Given the description of an element on the screen output the (x, y) to click on. 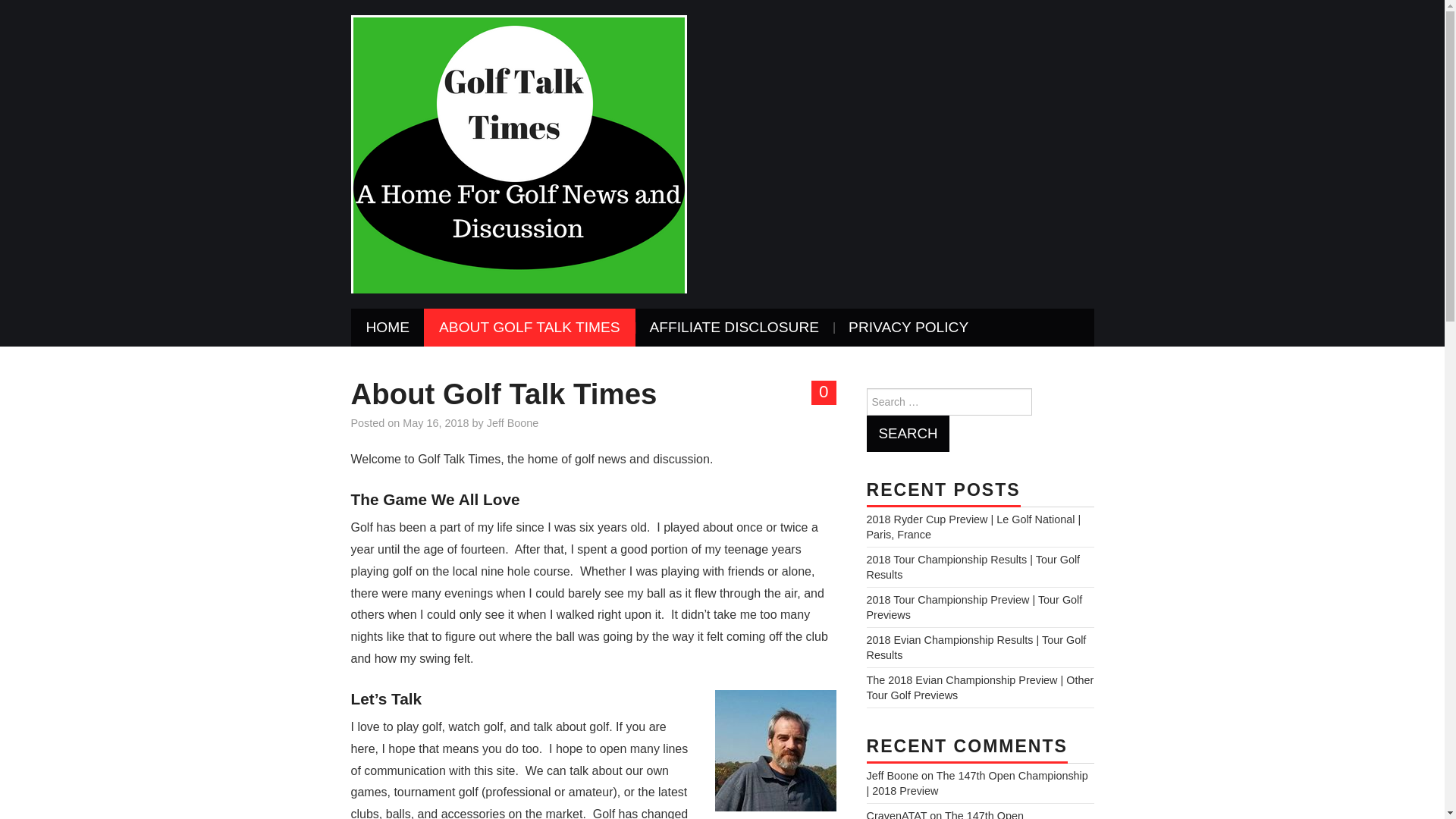
May 16, 2018 (435, 422)
Search (907, 433)
HOME (387, 327)
Golf Talk Times (517, 153)
Jeff Boone (512, 422)
0 (822, 392)
Search for: (948, 401)
AFFILIATE DISCLOSURE (734, 327)
Search (907, 433)
PRIVACY POLICY (908, 327)
